Given the description of an element on the screen output the (x, y) to click on. 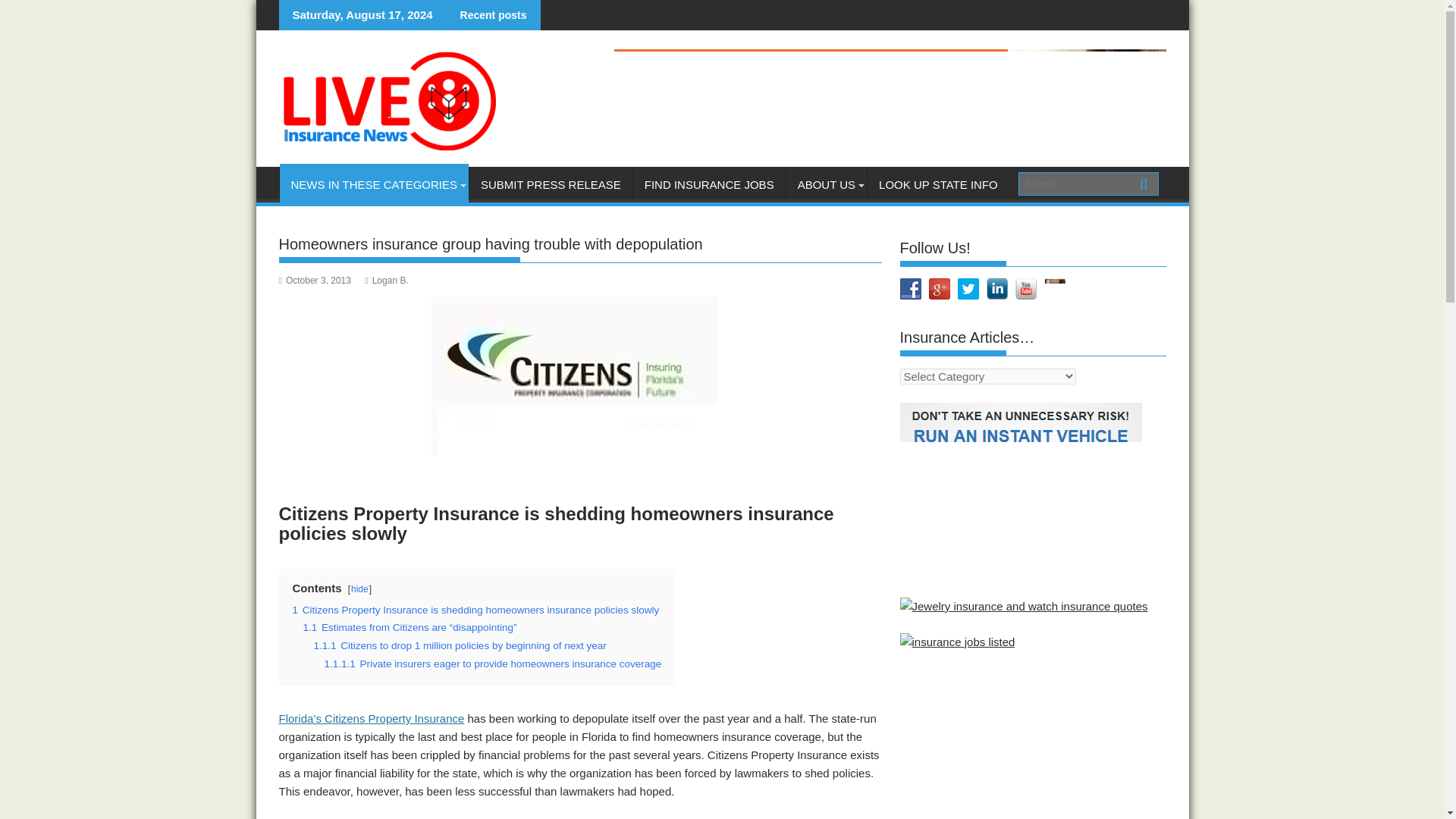
FIND INSURANCE JOBS (709, 185)
NEWS IN THESE CATEGORIES (373, 185)
LOOK UP STATE INFO (938, 185)
ABOUT US (826, 185)
SUBMIT PRESS RELEASE (549, 185)
October 3, 2013 (314, 280)
